Given the description of an element on the screen output the (x, y) to click on. 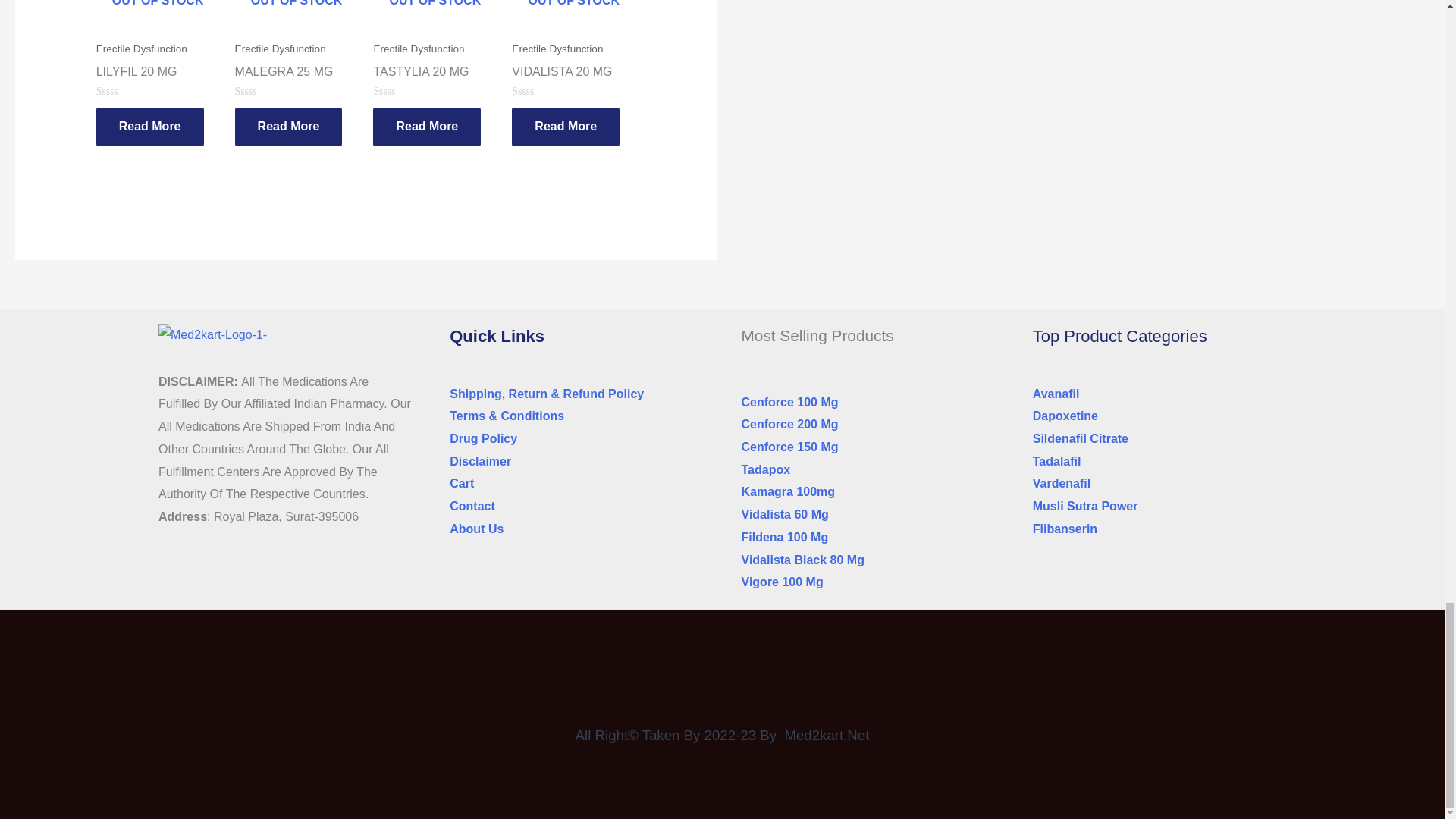
OUT OF STOCK (157, 16)
